Given the description of an element on the screen output the (x, y) to click on. 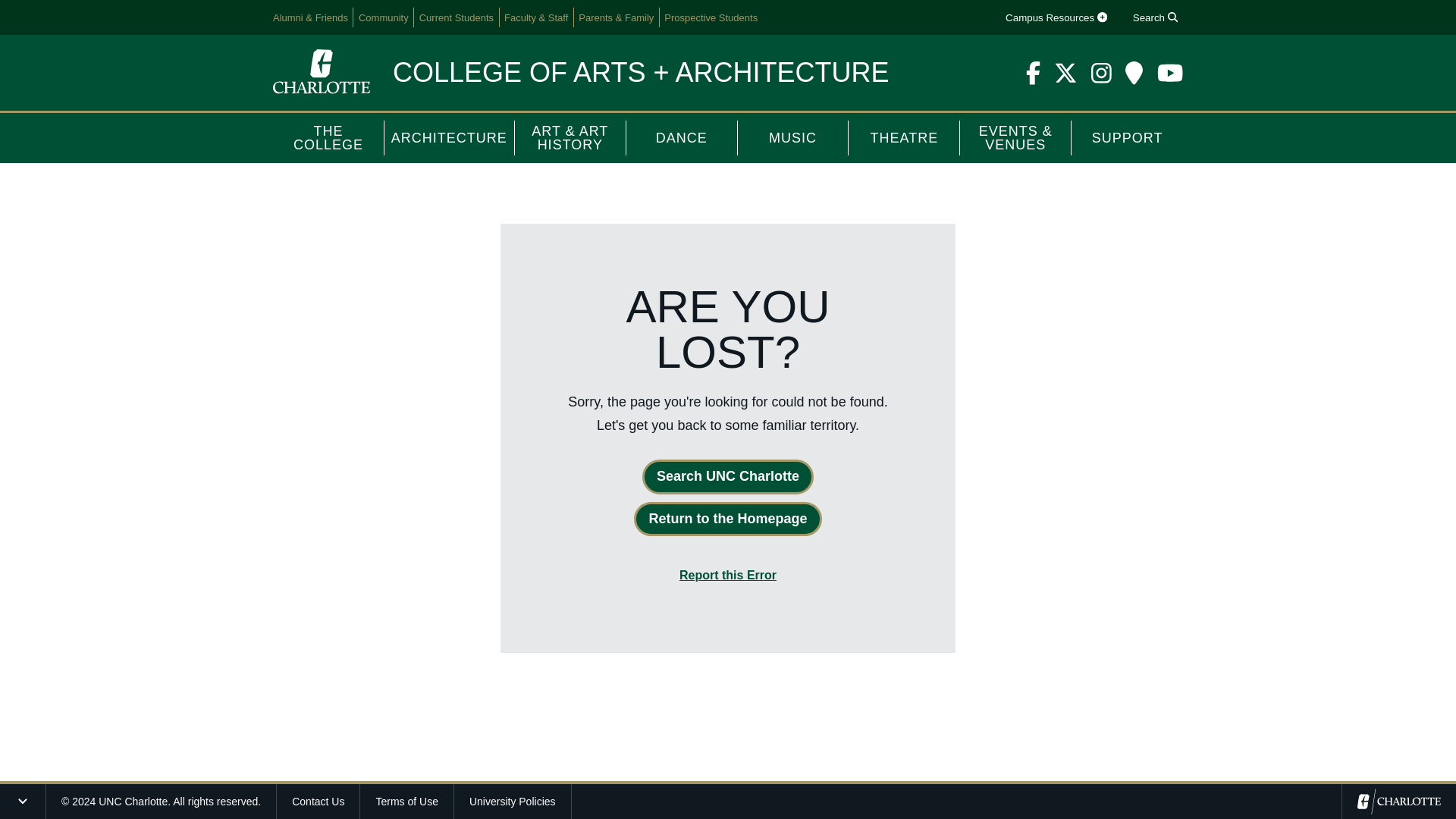
Report this Error (727, 575)
Search (1154, 16)
Current Students (456, 17)
Campus Resources (1056, 16)
Prospective Students (710, 17)
Community (383, 17)
